Given the description of an element on the screen output the (x, y) to click on. 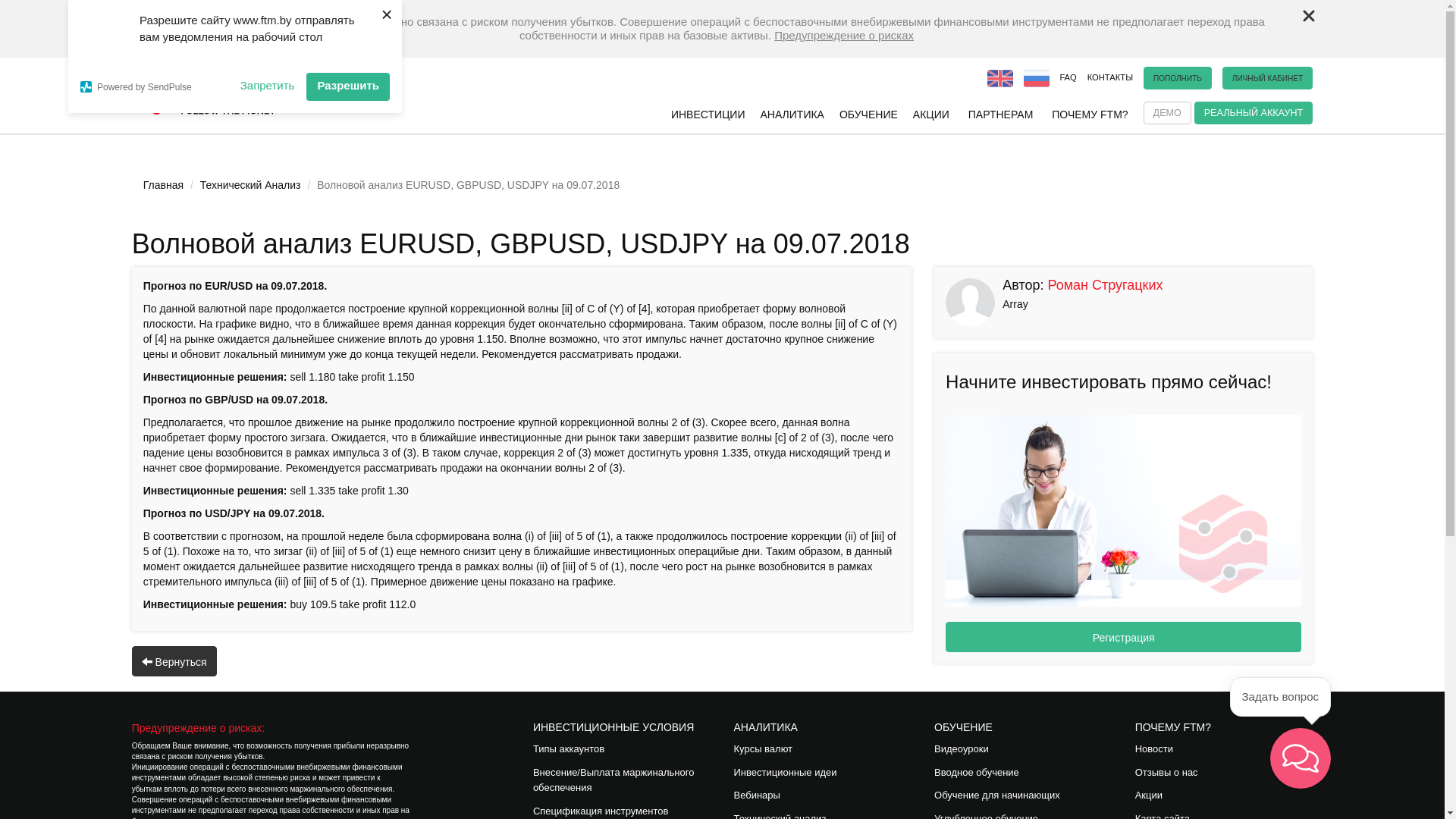
FAQ Element type: text (1067, 76)
Powered by SendPulse Element type: text (154, 86)
